Given the description of an element on the screen output the (x, y) to click on. 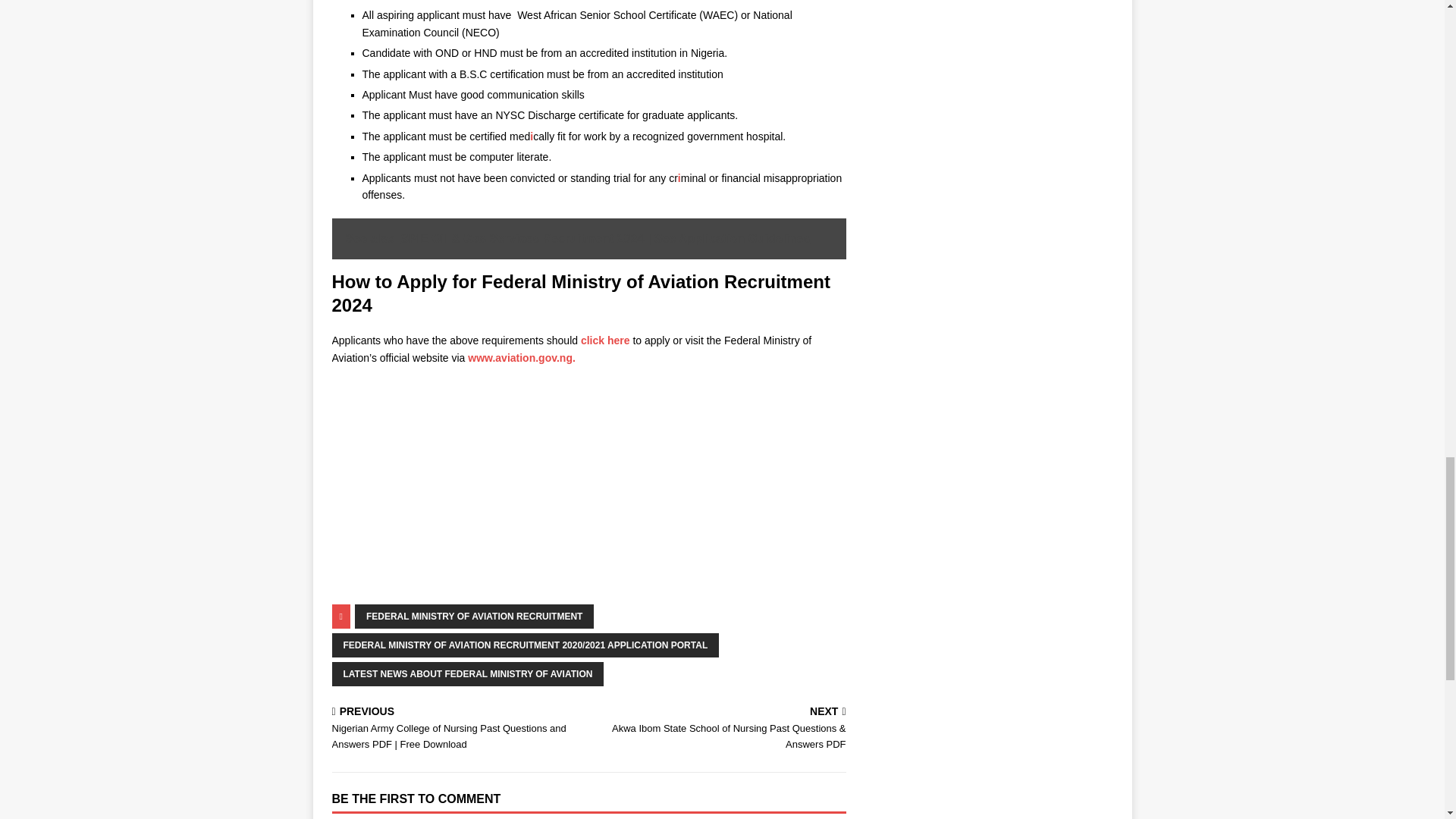
www.aviation.gov.ng. (521, 357)
LATEST NEWS ABOUT FEDERAL MINISTRY OF AVIATION (467, 673)
FEDERAL MINISTRY OF AVIATION RECRUITMENT (474, 616)
click here (605, 340)
